Given the description of an element on the screen output the (x, y) to click on. 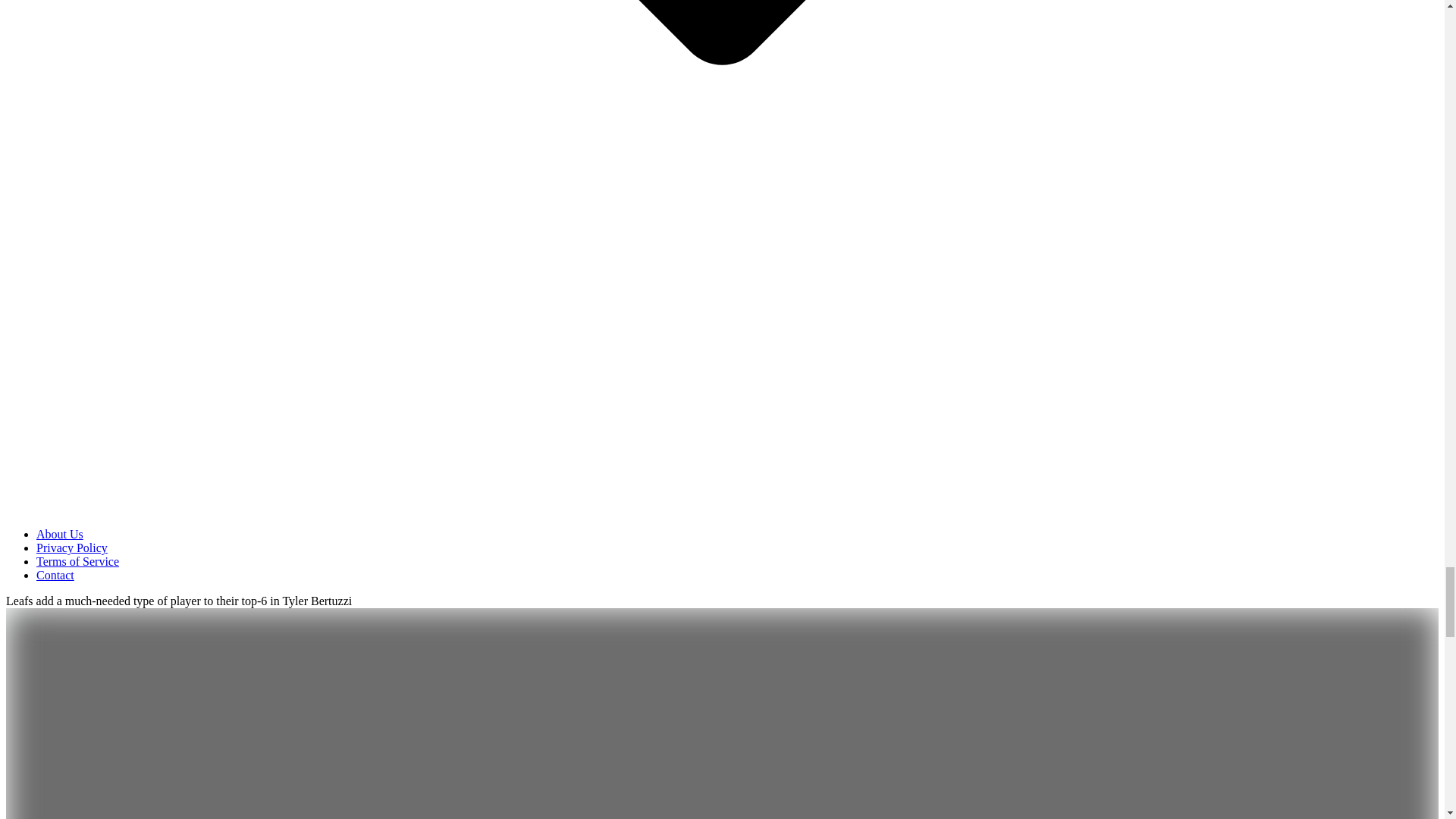
Terms of Service (77, 561)
Privacy Policy (71, 547)
Contact (55, 574)
About Us (59, 533)
